Given the description of an element on the screen output the (x, y) to click on. 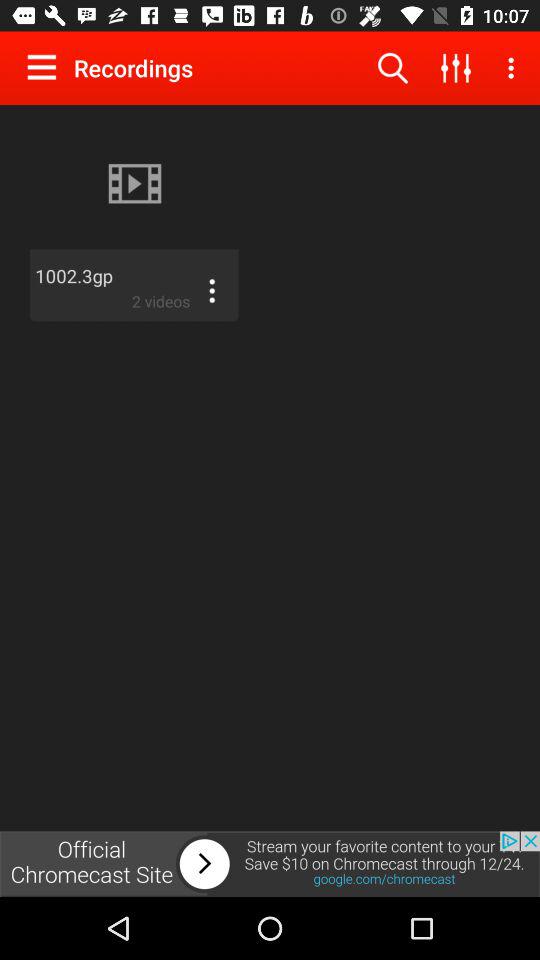
adverts (270, 864)
